Given the description of an element on the screen output the (x, y) to click on. 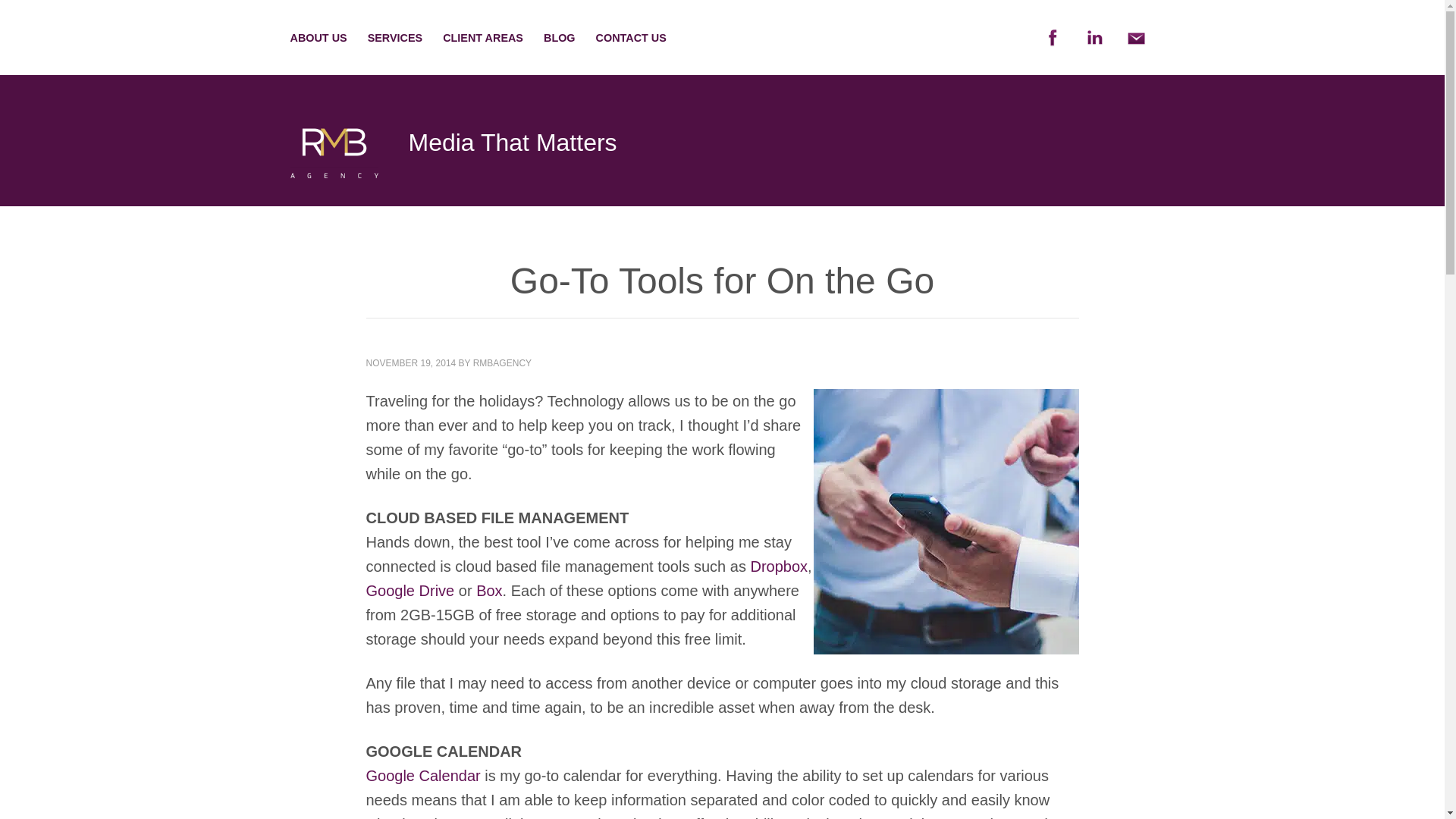
Back to Top (1413, 788)
CONTACT US (630, 37)
RMBAGENCY (502, 362)
RMB Agency (333, 147)
Google Calendar (422, 775)
RMB Agency (333, 166)
Google Drive (409, 590)
Dropbox (778, 565)
CLIENT AREAS (482, 37)
Box (489, 590)
